Given the description of an element on the screen output the (x, y) to click on. 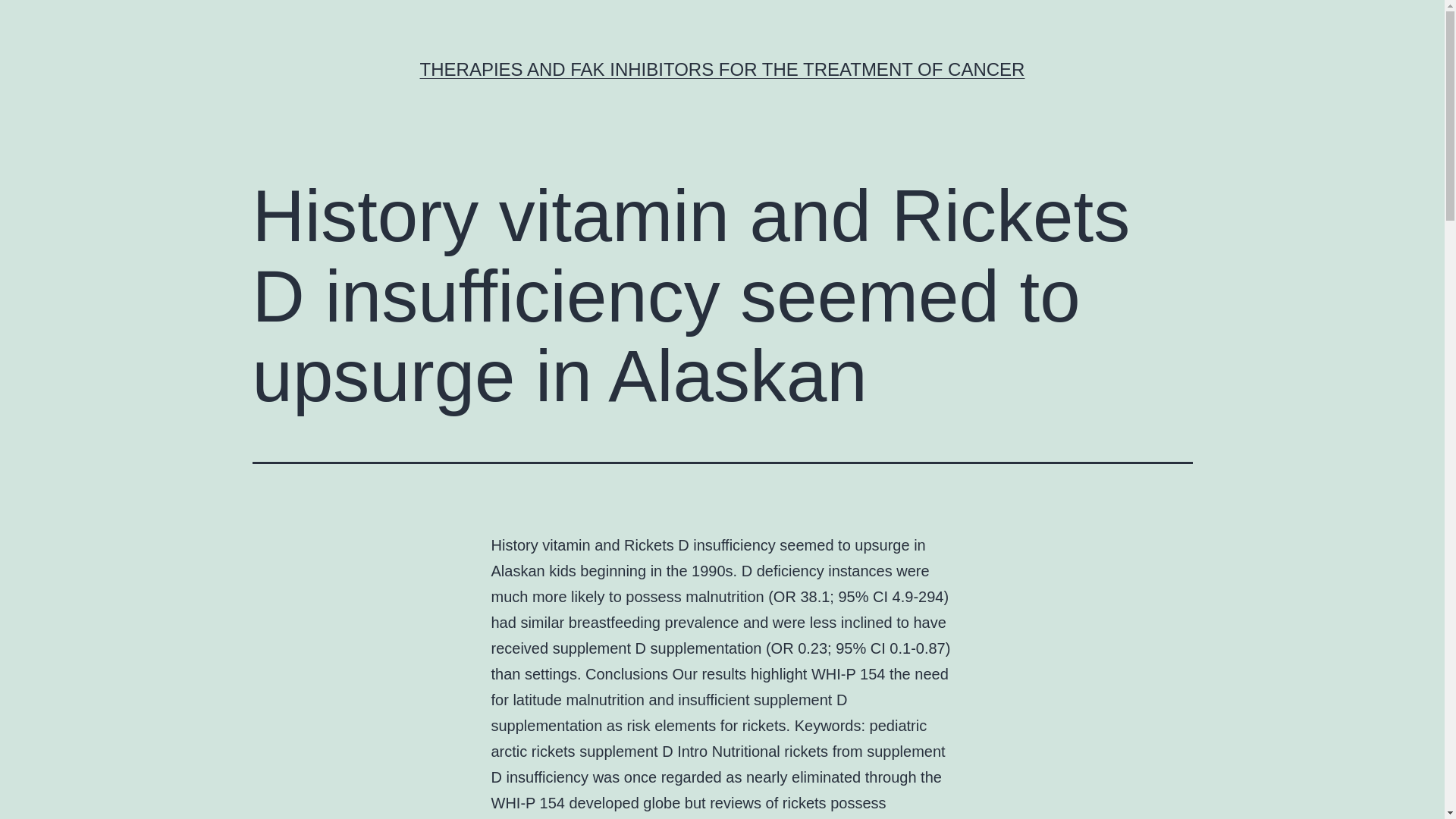
THERAPIES AND FAK INHIBITORS FOR THE TREATMENT OF CANCER (722, 68)
